Given the description of an element on the screen output the (x, y) to click on. 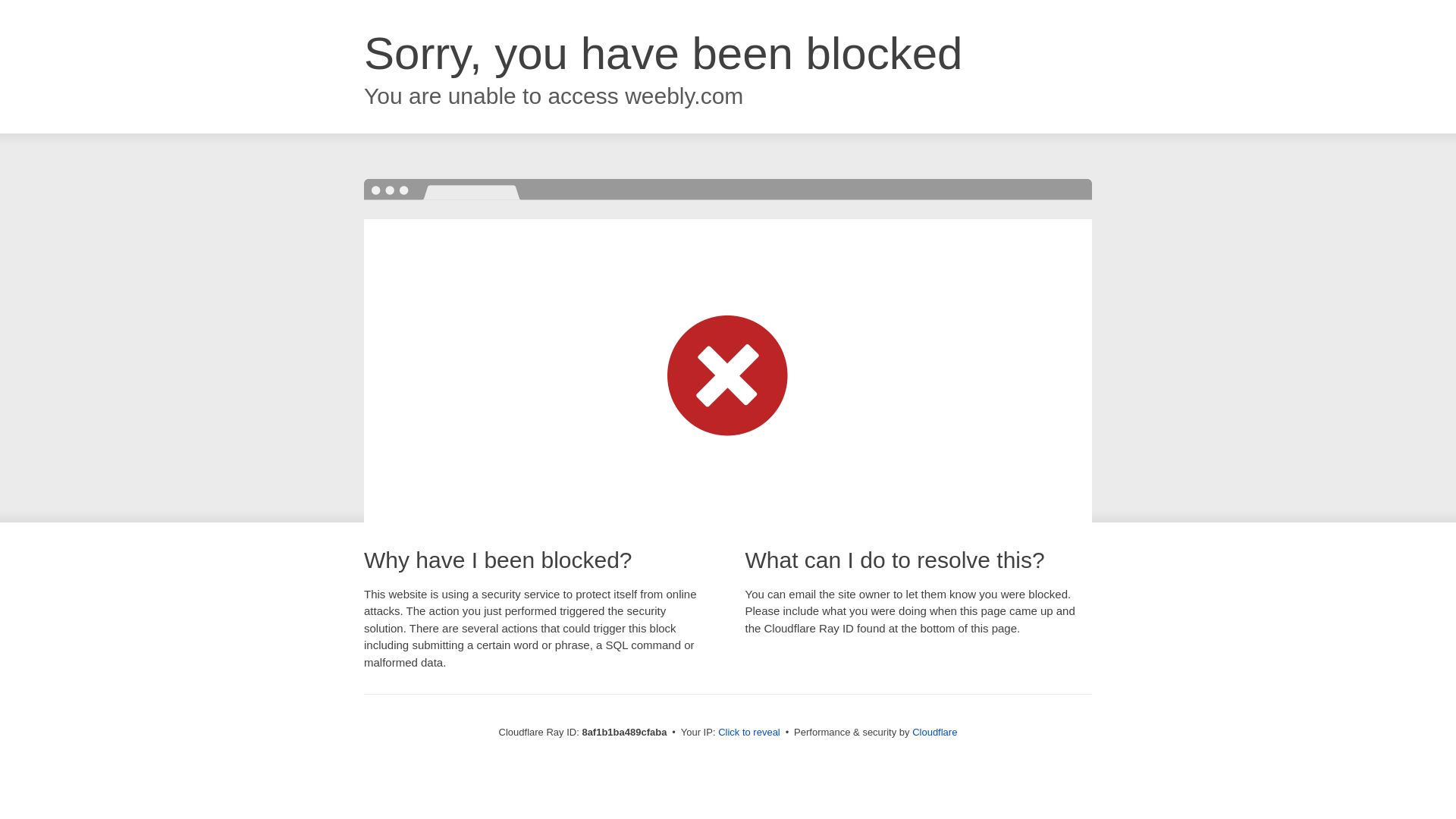
Click to reveal (748, 732)
Cloudflare (934, 731)
